Given the description of an element on the screen output the (x, y) to click on. 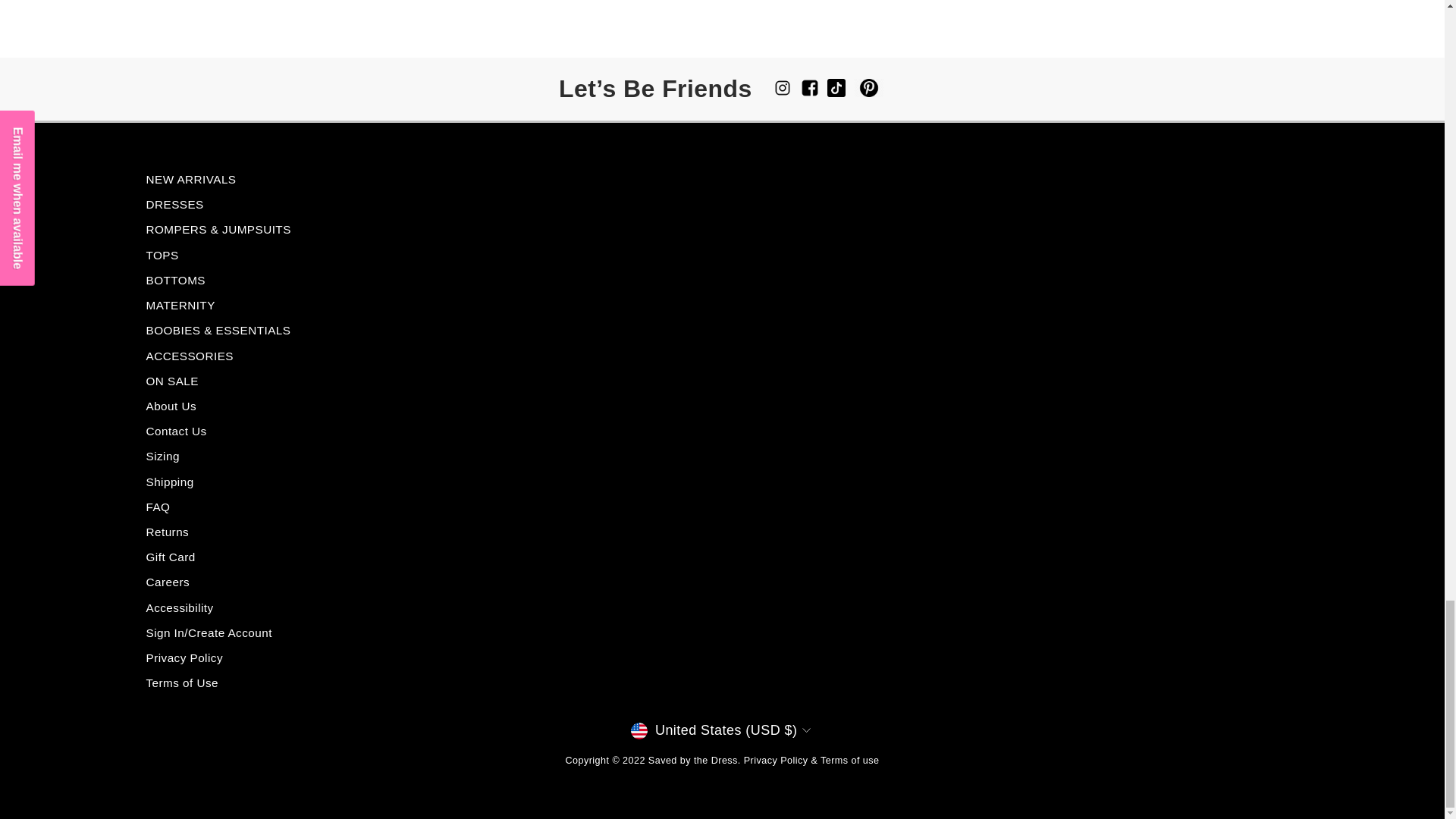
Terms of use (850, 760)
Privacy Policy (776, 760)
